Given the description of an element on the screen output the (x, y) to click on. 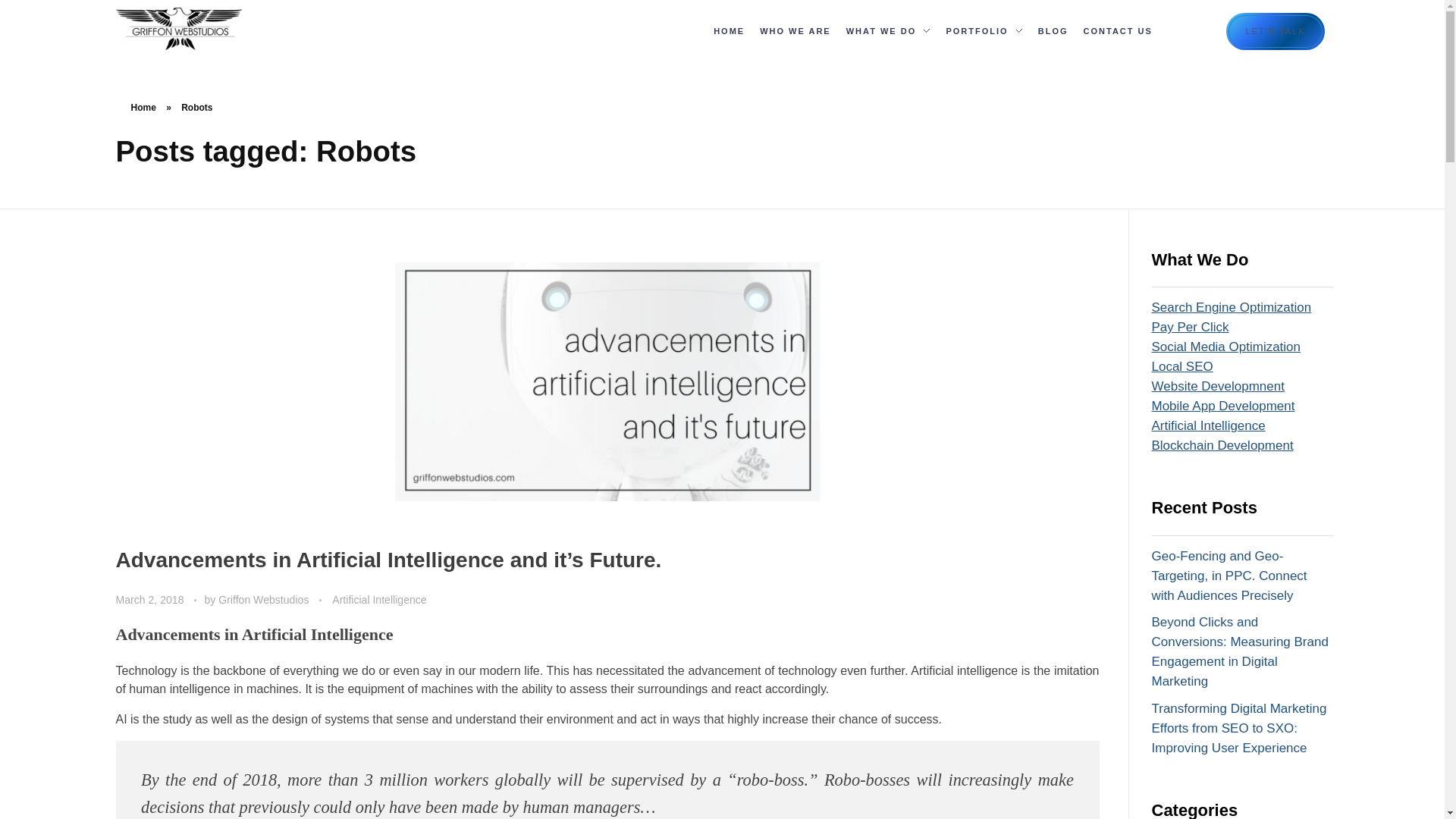
Griffon Webstudios (178, 28)
Griffon Webstudios (212, 58)
View all posts by Griffon Webstudios (264, 599)
PORTFOLIO (983, 31)
LET'S TALK (1275, 30)
WHAT WE DO (888, 31)
Griffon Webstudios (199, 58)
2018-03-02T03:00:50-05:00 (149, 599)
CONTACT US (1118, 31)
WHO WE ARE (795, 31)
View all posts in Artificial Intelligence (378, 600)
